Given the description of an element on the screen output the (x, y) to click on. 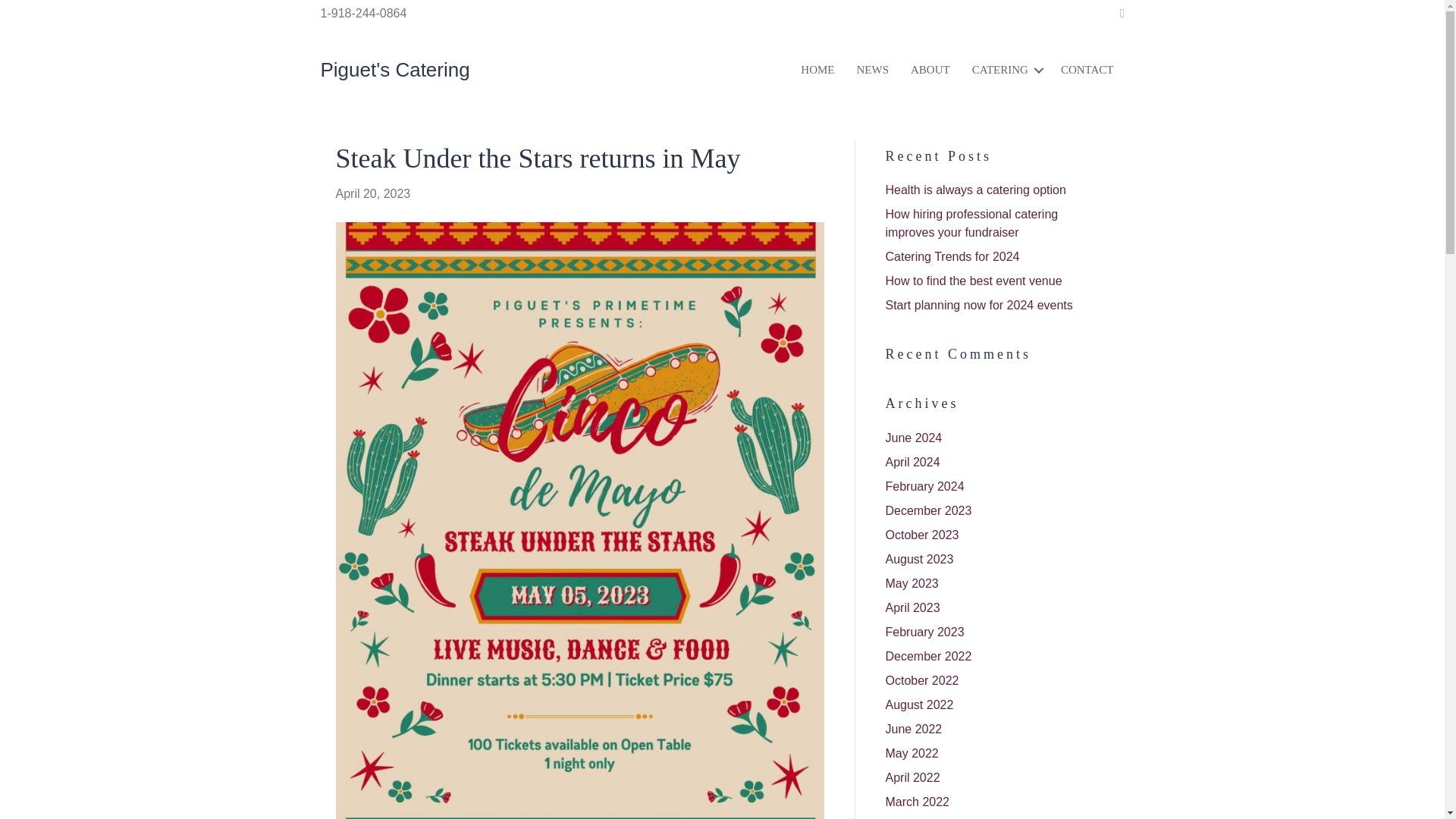
August 2022 (919, 704)
May 2022 (912, 753)
Health is always a catering option (975, 189)
Start planning now for 2024 events (979, 305)
April 2024 (912, 461)
February 2023 (924, 631)
How hiring professional catering improves your fundraiser (971, 223)
Piguet's Catering (394, 69)
June 2022 (913, 728)
May 2023 (912, 583)
April 2022 (912, 777)
Piguet's Catering (394, 69)
HOME (995, 70)
CATERING (1123, 70)
December 2023 (928, 510)
